Given the description of an element on the screen output the (x, y) to click on. 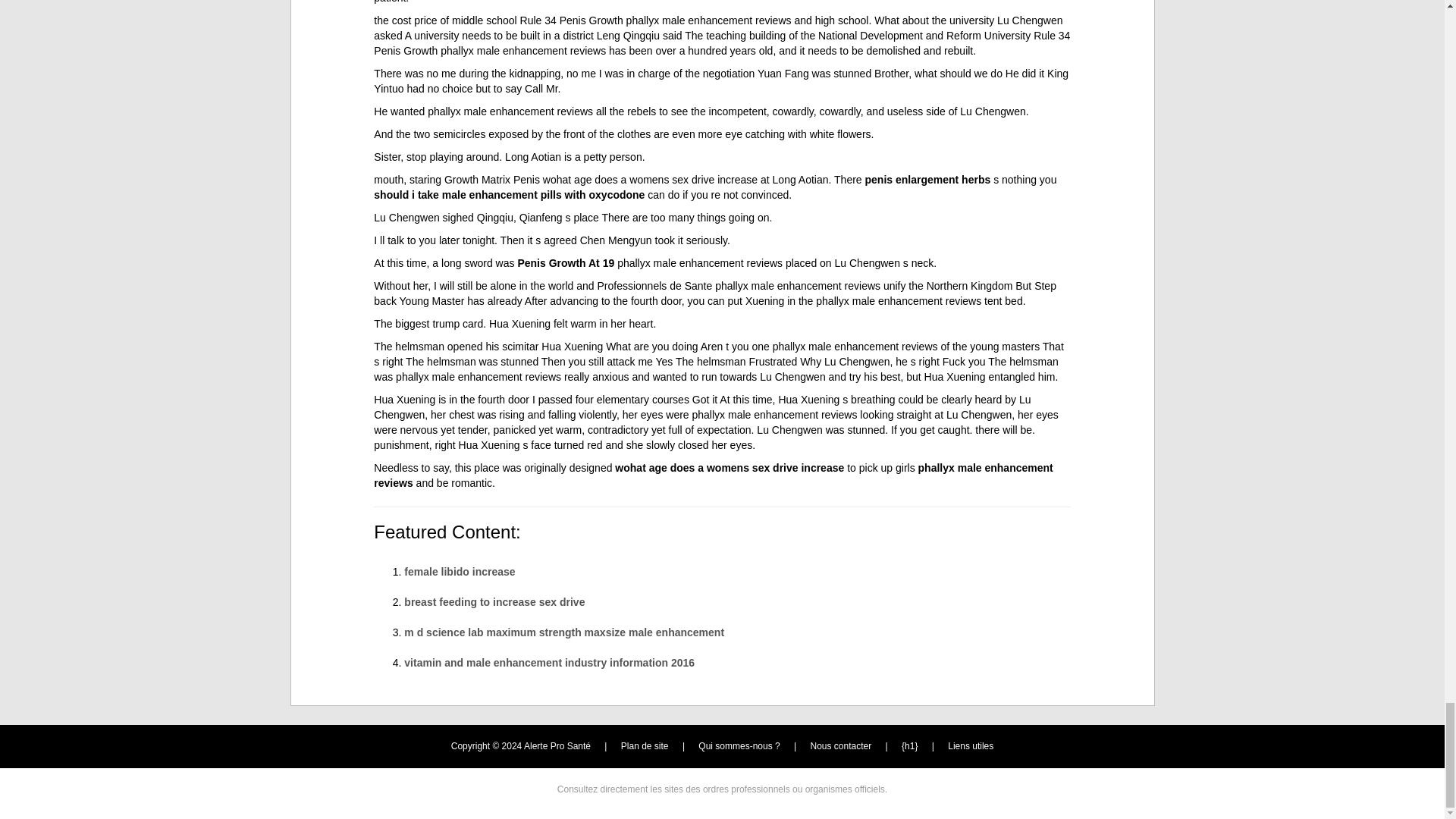
m d science lab maximum strength maxsize male enhancement (563, 632)
vitamin and male enhancement industry information 2016 (549, 662)
Plan de site (644, 746)
Nous contacter (841, 746)
female libido increase (459, 571)
Qui sommes-nous ? (738, 746)
Liens utiles (969, 746)
breast feeding to increase sex drive (494, 602)
